Given the description of an element on the screen output the (x, y) to click on. 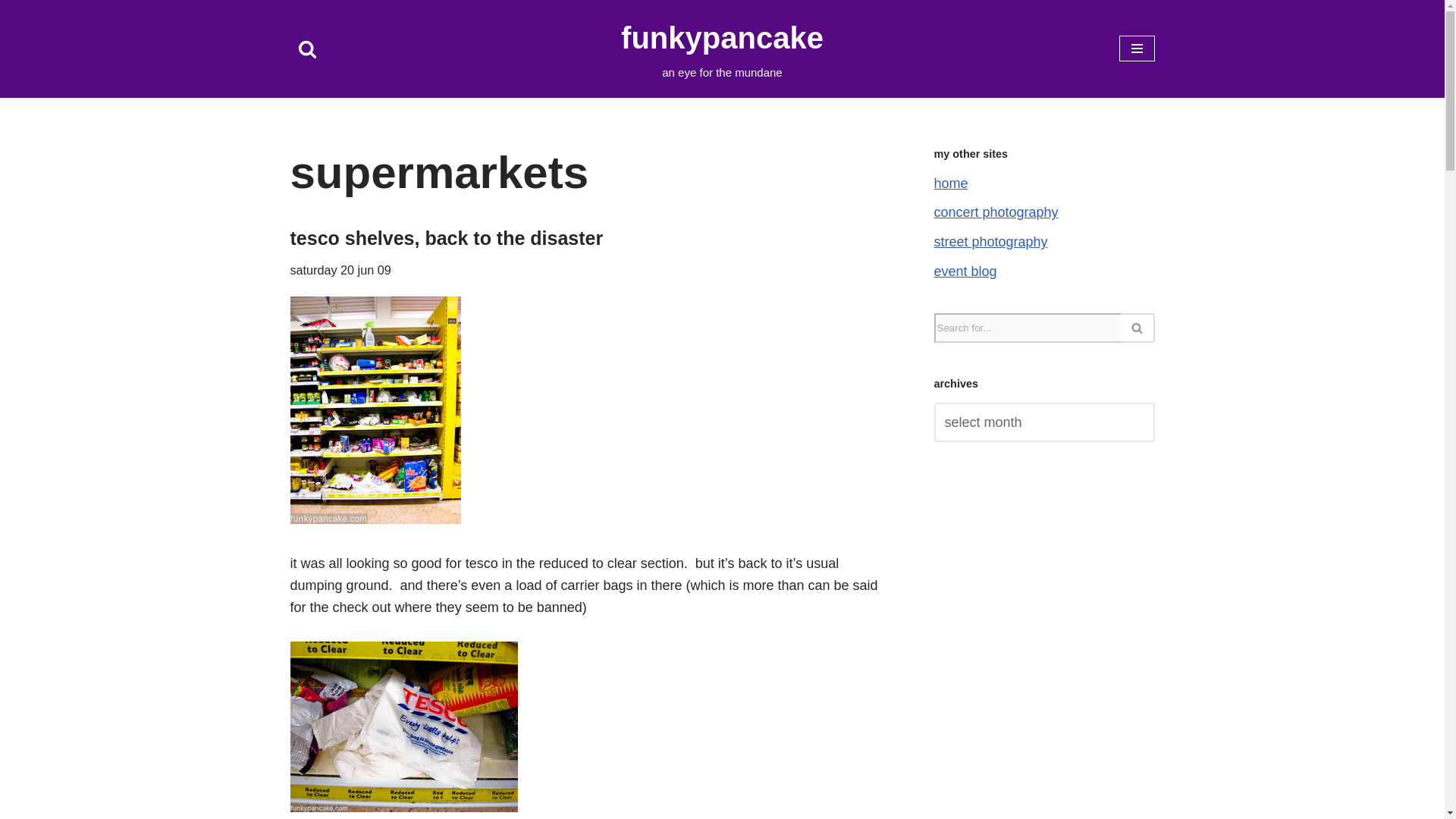
home (951, 183)
skip to content (11, 31)
Navigation Menu (1136, 48)
tesco shelves, back to the disaster (445, 237)
concert photography (722, 48)
